Given the description of an element on the screen output the (x, y) to click on. 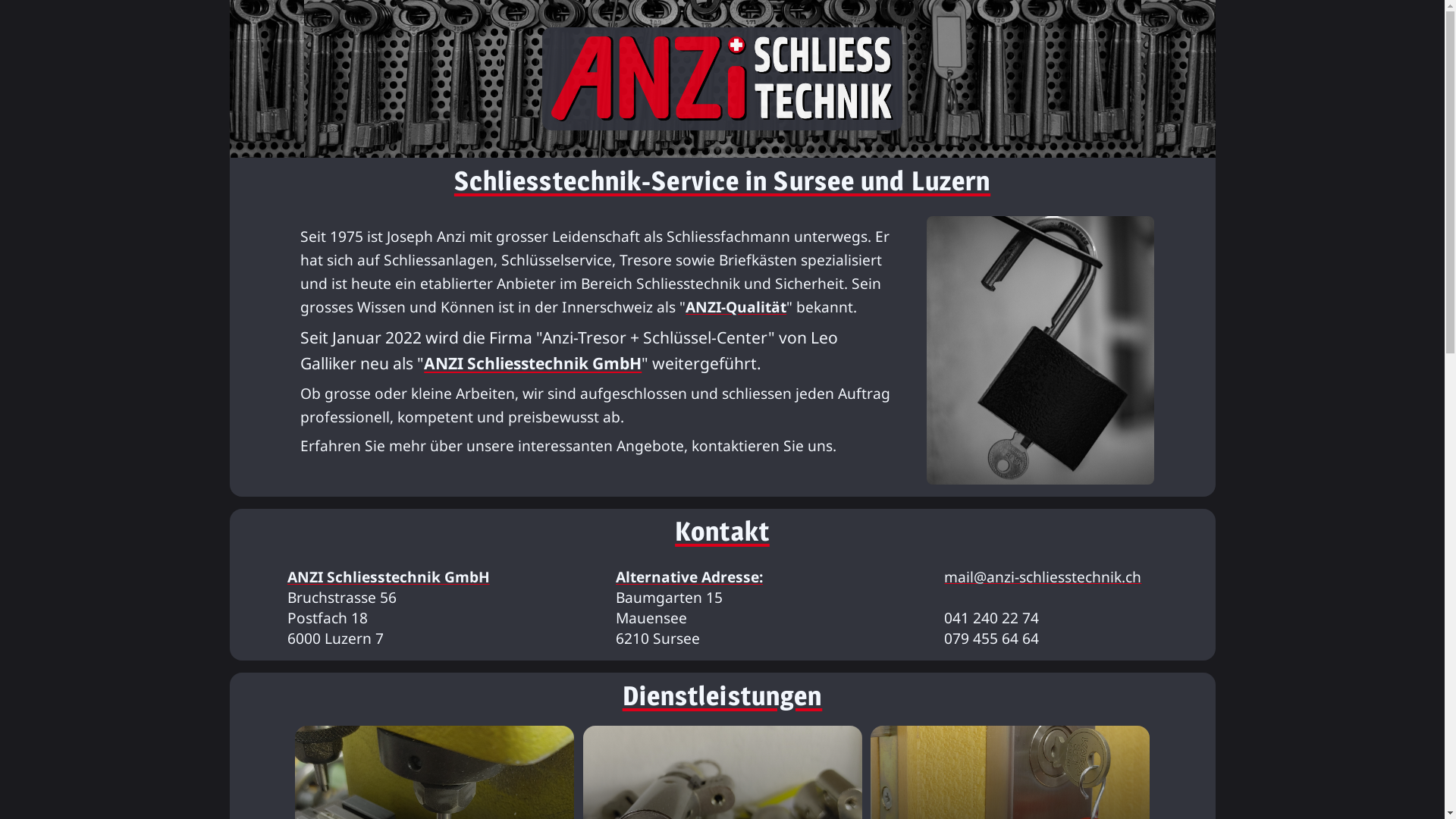
041 240 22 74 Element type: text (991, 617)
mail@anzi-schliesstechnik.ch Element type: text (1042, 576)
079 455 64 64 Element type: text (991, 637)
